Given the description of an element on the screen output the (x, y) to click on. 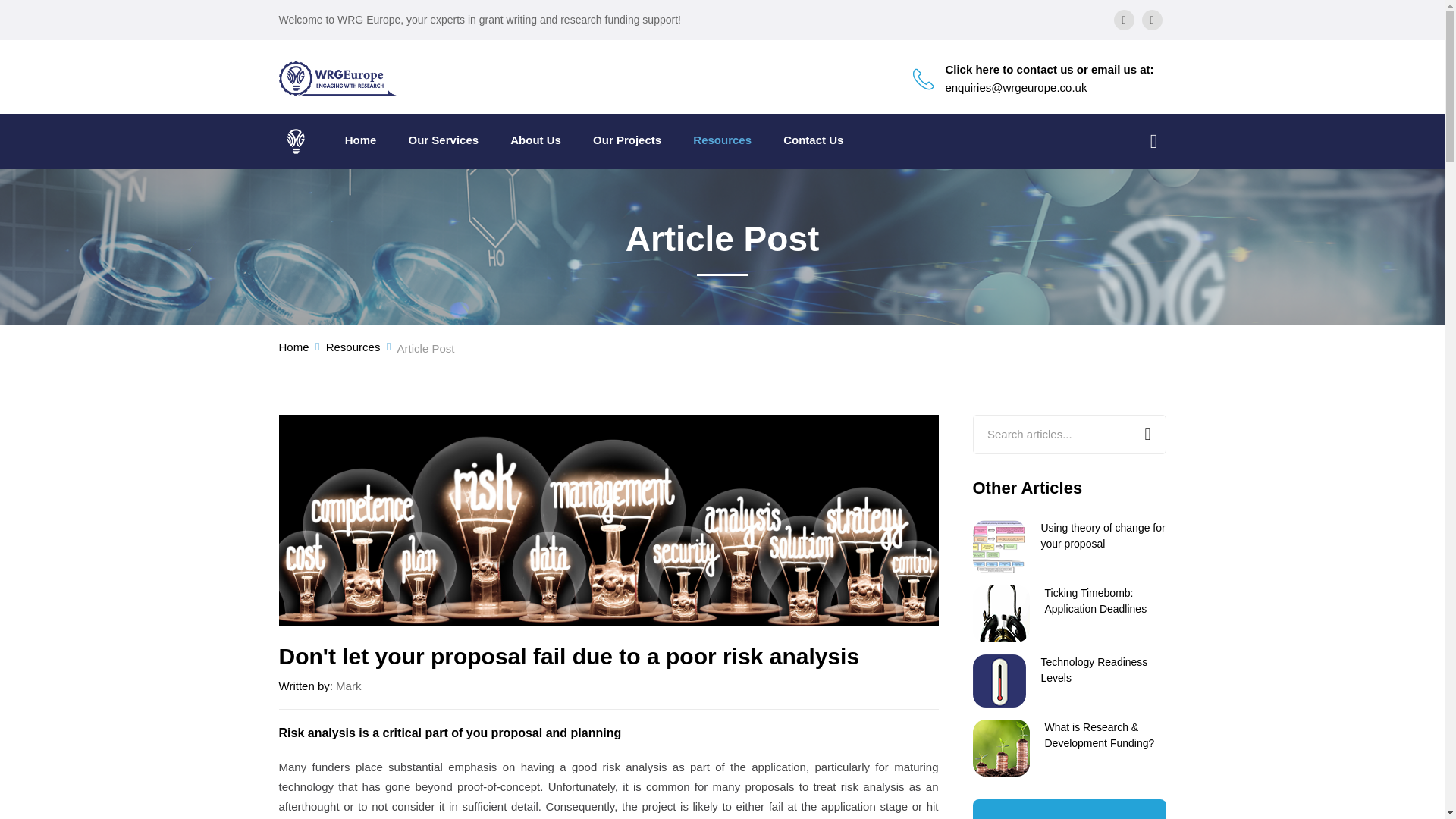
Resources (722, 140)
Our Projects (626, 140)
Ticking Timebomb: Application Deadlines (1096, 601)
Resources (353, 346)
Home (361, 140)
Using theory of change for your proposal (1102, 535)
Contact Us (813, 140)
Home (293, 346)
Click here to contact us or email us at: (1048, 69)
Technology Readiness Levels (1094, 669)
About Us (535, 140)
Our Services (444, 140)
